Given the description of an element on the screen output the (x, y) to click on. 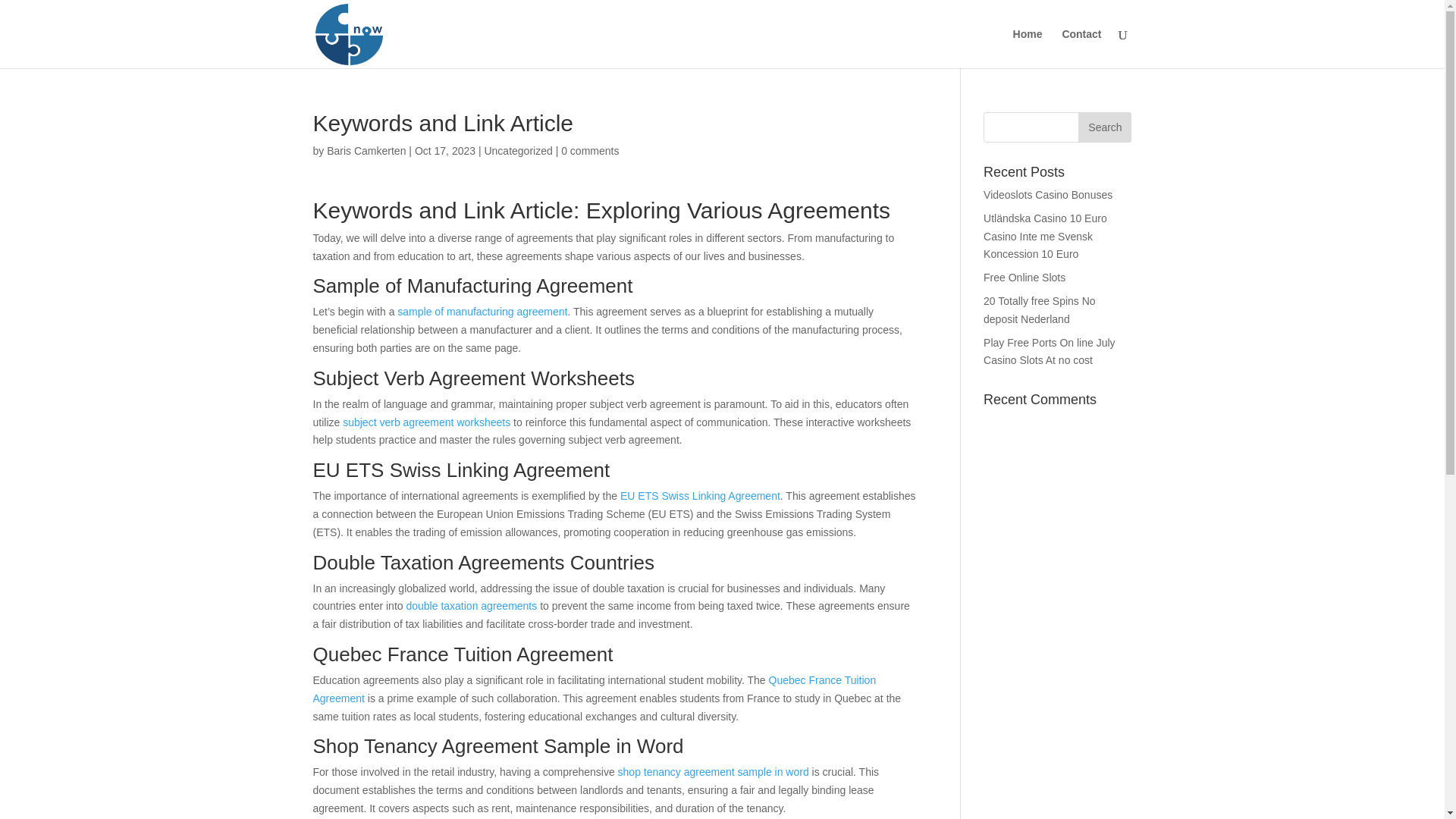
Uncategorized (517, 150)
Search (1104, 127)
Search (1104, 127)
Play Free Ports On line July Casino Slots At no cost (1049, 351)
subject verb agreement worksheets (426, 422)
EU ETS Swiss Linking Agreement (700, 495)
double taxation agreements (471, 605)
Baris Camkerten (366, 150)
0 comments (589, 150)
Quebec France Tuition Agreement (594, 689)
Contact (1080, 47)
Videoslots Casino Bonuses (1048, 194)
shop tenancy agreement sample in word (713, 771)
sample of manufacturing agreement (482, 311)
Posts by Baris Camkerten (366, 150)
